Given the description of an element on the screen output the (x, y) to click on. 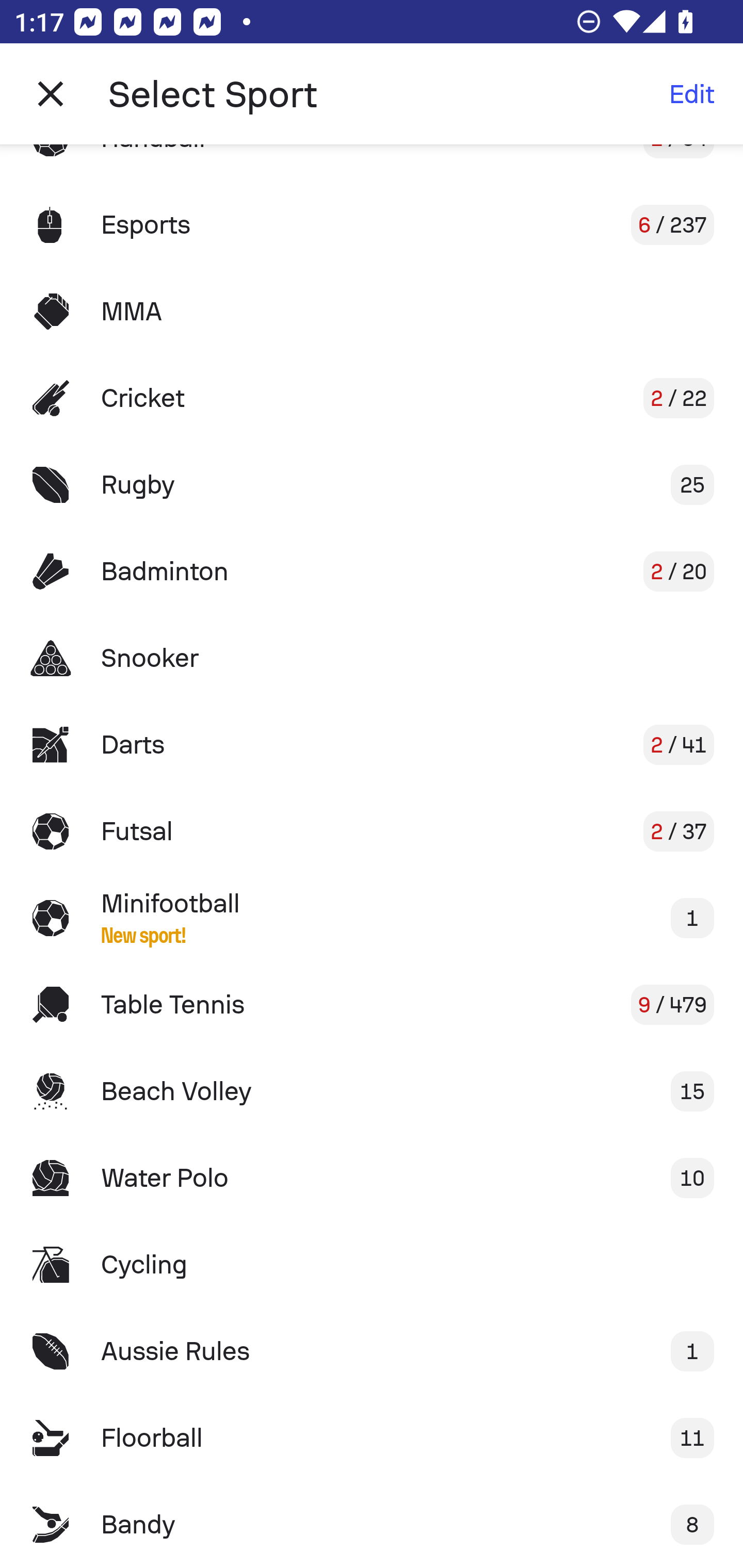
Edit (691, 93)
Esports 6 / 237 (371, 224)
MMA (371, 311)
Cricket 2 / 22 (371, 398)
Rugby 25 (371, 485)
Badminton 2 / 20 (371, 571)
Snooker (371, 657)
Darts 2 / 41 (371, 744)
Futsal 2 / 37 (371, 831)
Minifootball New sport! 1 (371, 917)
Table Tennis 9 / 479 (371, 1004)
Beach Volley 15 (371, 1091)
Water Polo 10 (371, 1178)
Cycling (371, 1264)
Aussie Rules 1 (371, 1350)
Floorball 11 (371, 1437)
Bandy 8 (371, 1524)
